Given the description of an element on the screen output the (x, y) to click on. 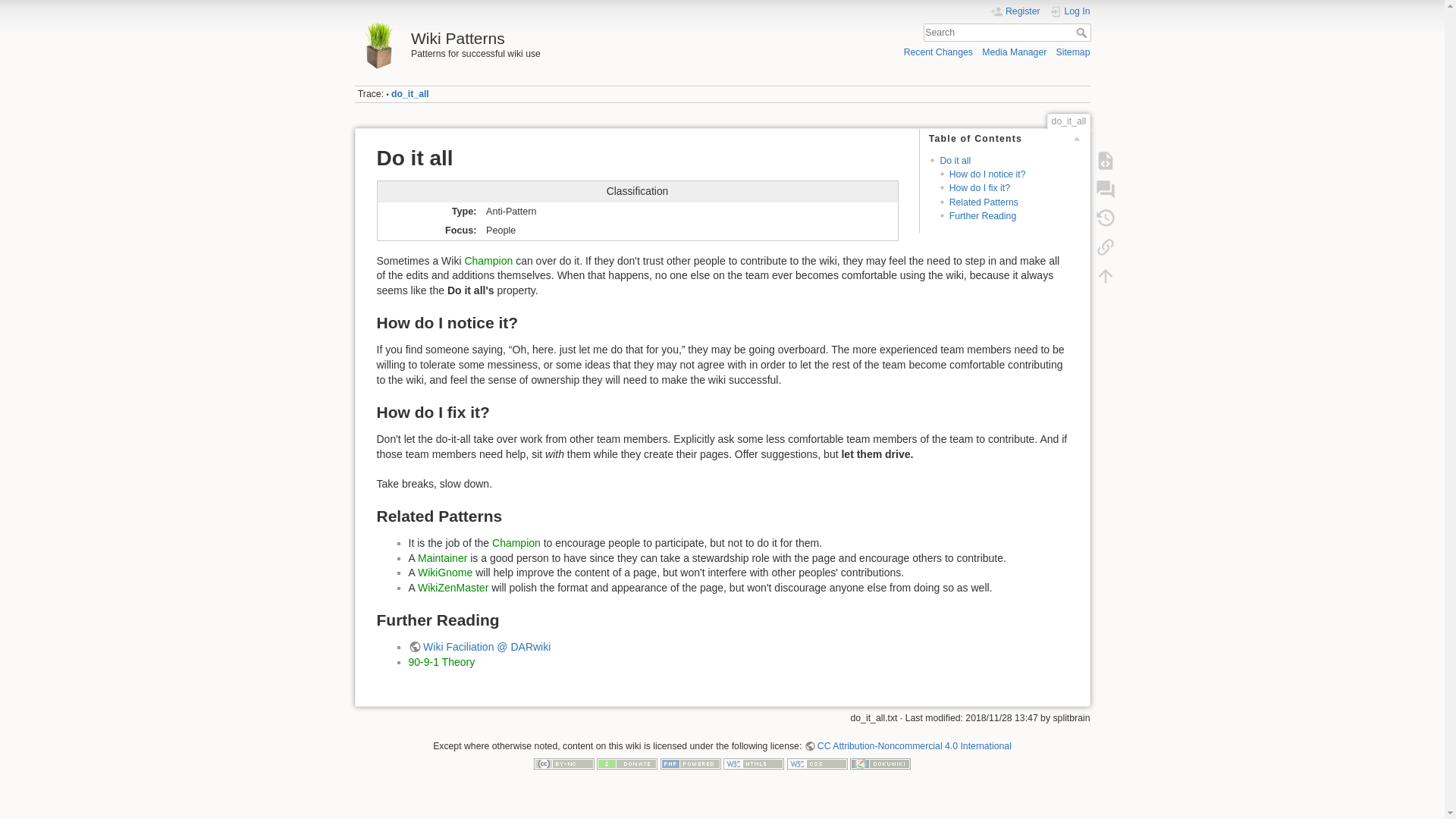
90-9-1 Theory (440, 662)
champion (516, 542)
wikignome (444, 572)
Further Reading (982, 215)
Search (1082, 32)
Media Manager (1013, 51)
Register (1014, 11)
Maintainer (442, 558)
Media Manager (1013, 51)
maintainer (442, 558)
